Given the description of an element on the screen output the (x, y) to click on. 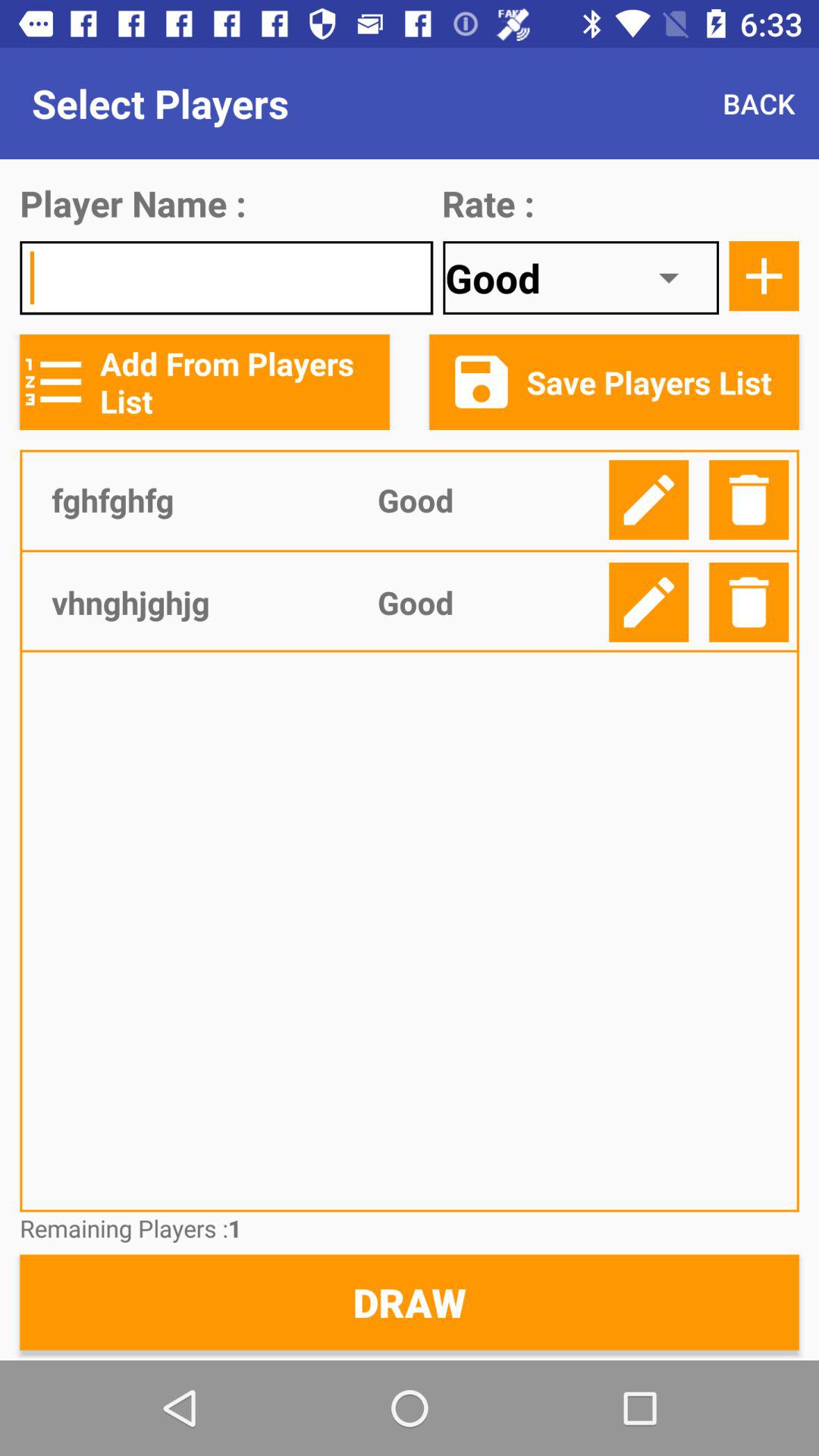
edit (648, 602)
